Given the description of an element on the screen output the (x, y) to click on. 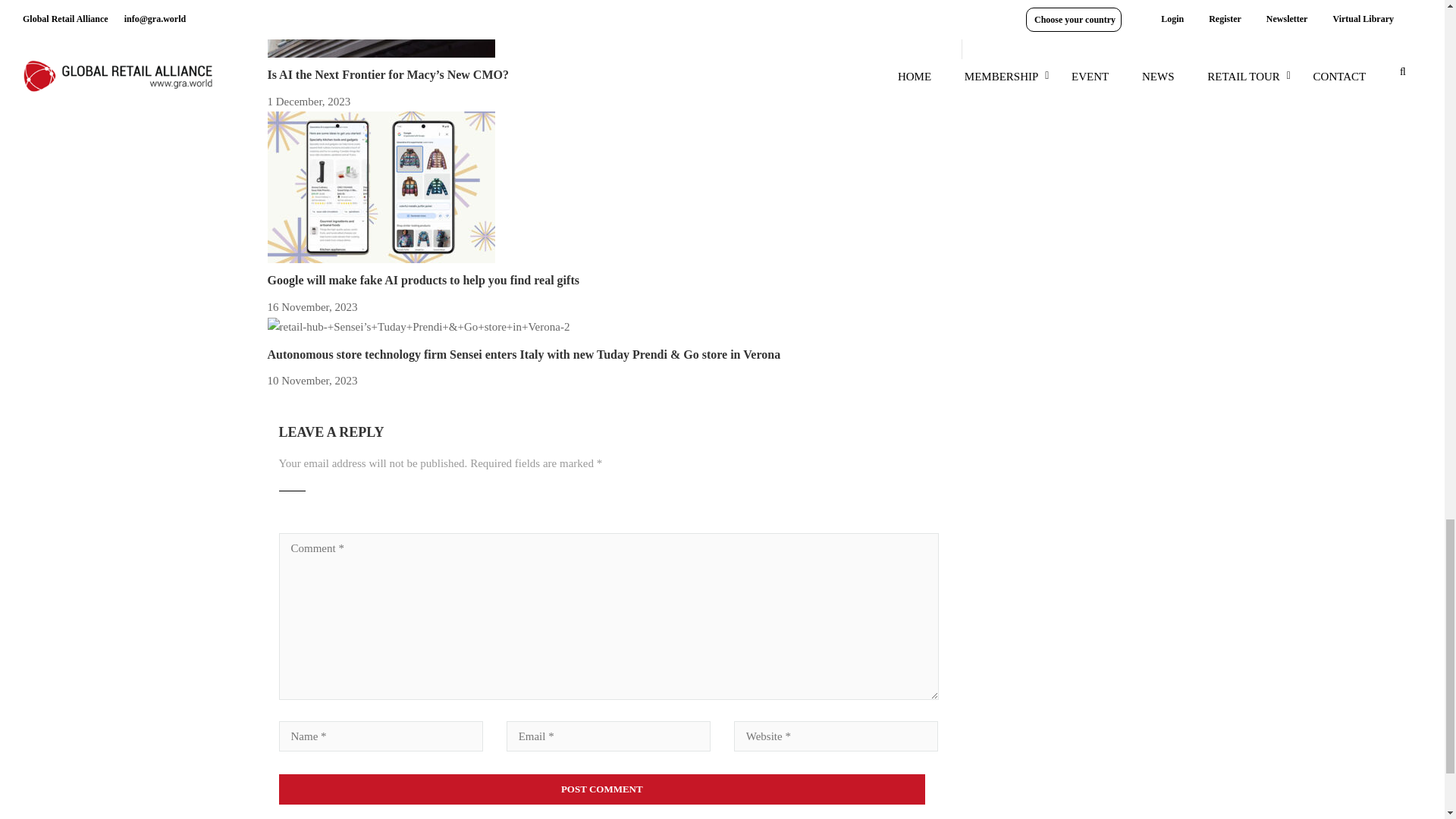
Post Comment (602, 788)
macys (380, 28)
gogole-ai (380, 186)
